Given the description of an element on the screen output the (x, y) to click on. 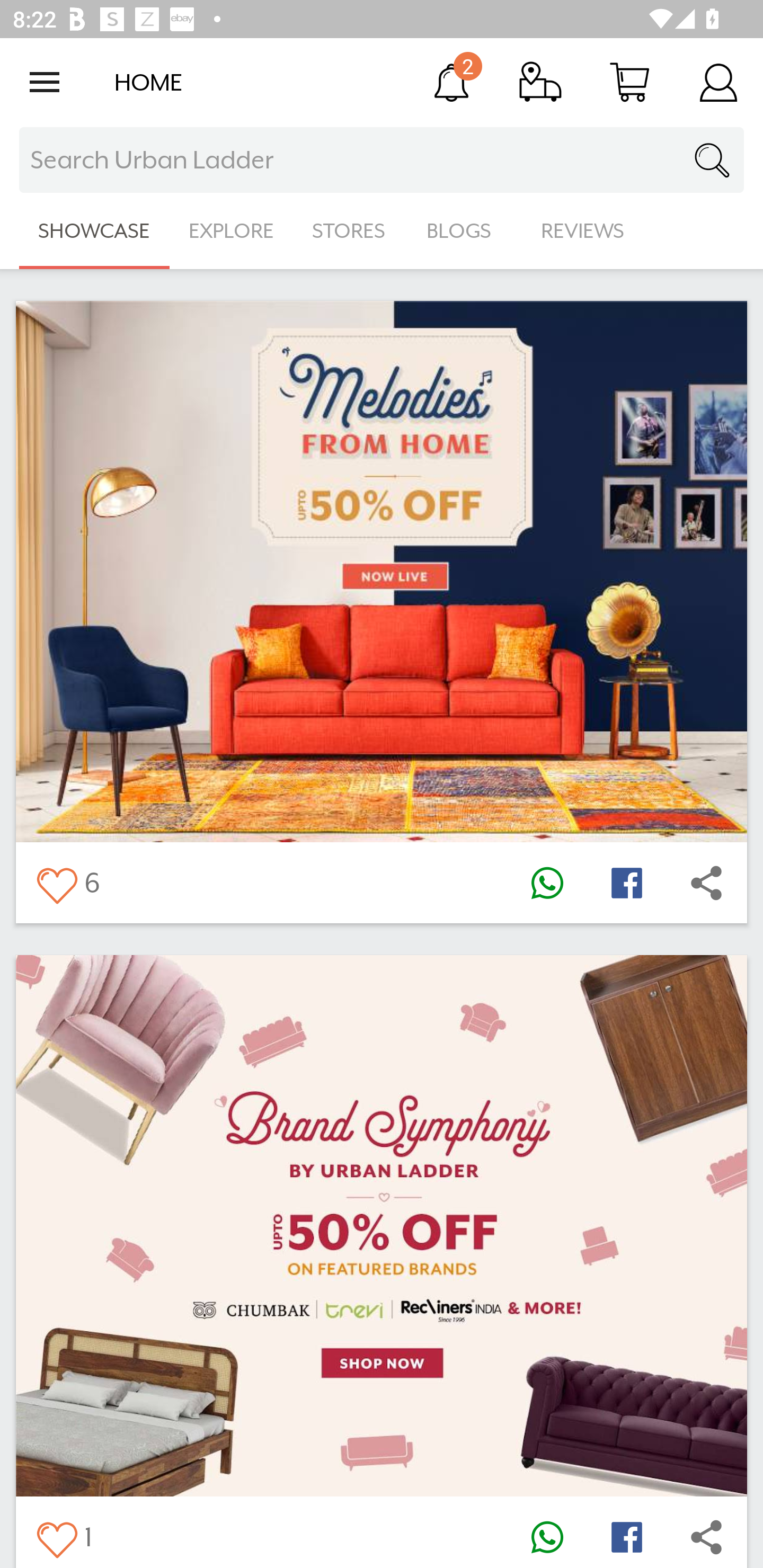
Open navigation drawer (44, 82)
Notification (450, 81)
Track Order (540, 81)
Cart (629, 81)
Account Details (718, 81)
Search Urban Ladder  (381, 159)
SHOWCASE (94, 230)
EXPLORE (230, 230)
STORES (349, 230)
BLOGS (464, 230)
REVIEWS (582, 230)
 (55, 882)
 (547, 882)
 (626, 882)
 (706, 882)
 (55, 1536)
 (547, 1536)
 (626, 1536)
 (706, 1536)
